Given the description of an element on the screen output the (x, y) to click on. 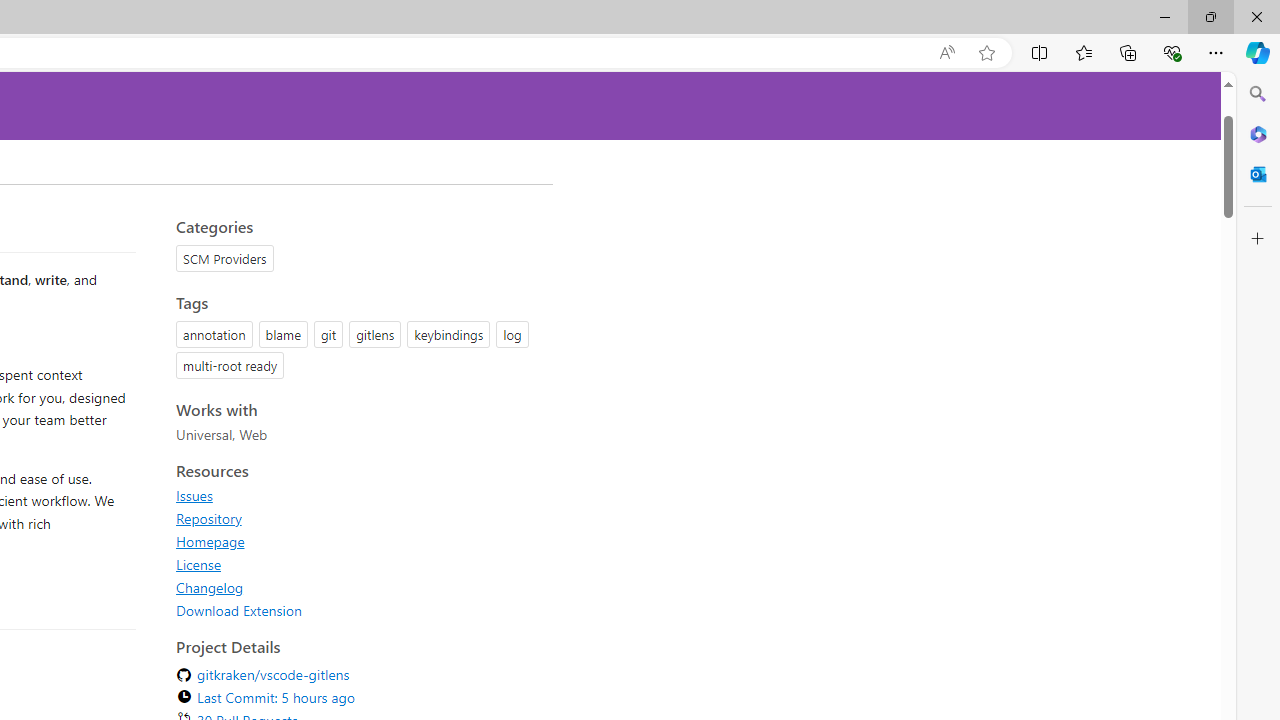
Repository (358, 518)
License (198, 564)
Changelog (210, 587)
